Given the description of an element on the screen output the (x, y) to click on. 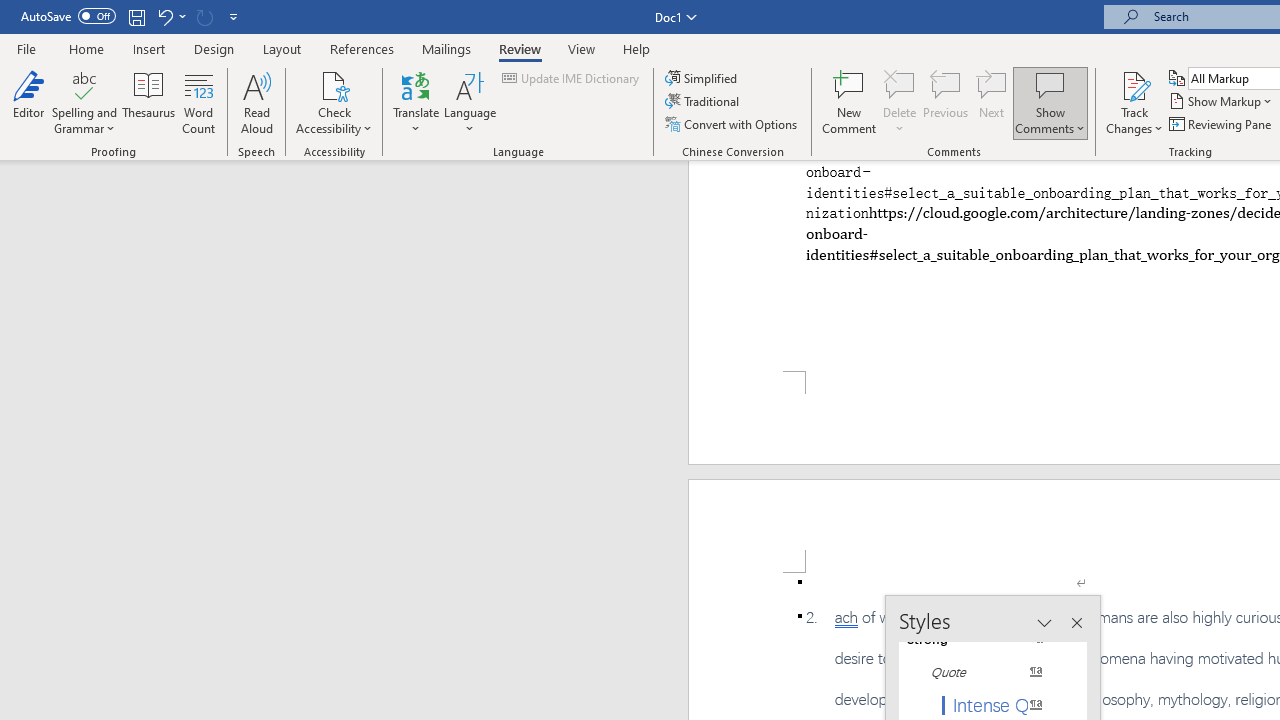
Undo Paste (170, 15)
Can't Repeat (204, 15)
Spelling and Grammar (84, 84)
Quote (984, 672)
Convert with Options... (732, 124)
Thesaurus... (148, 102)
Next (991, 102)
Track Changes (1134, 102)
Show Comments (1050, 102)
Show Comments (1050, 84)
Simplified (702, 78)
